Given the description of an element on the screen output the (x, y) to click on. 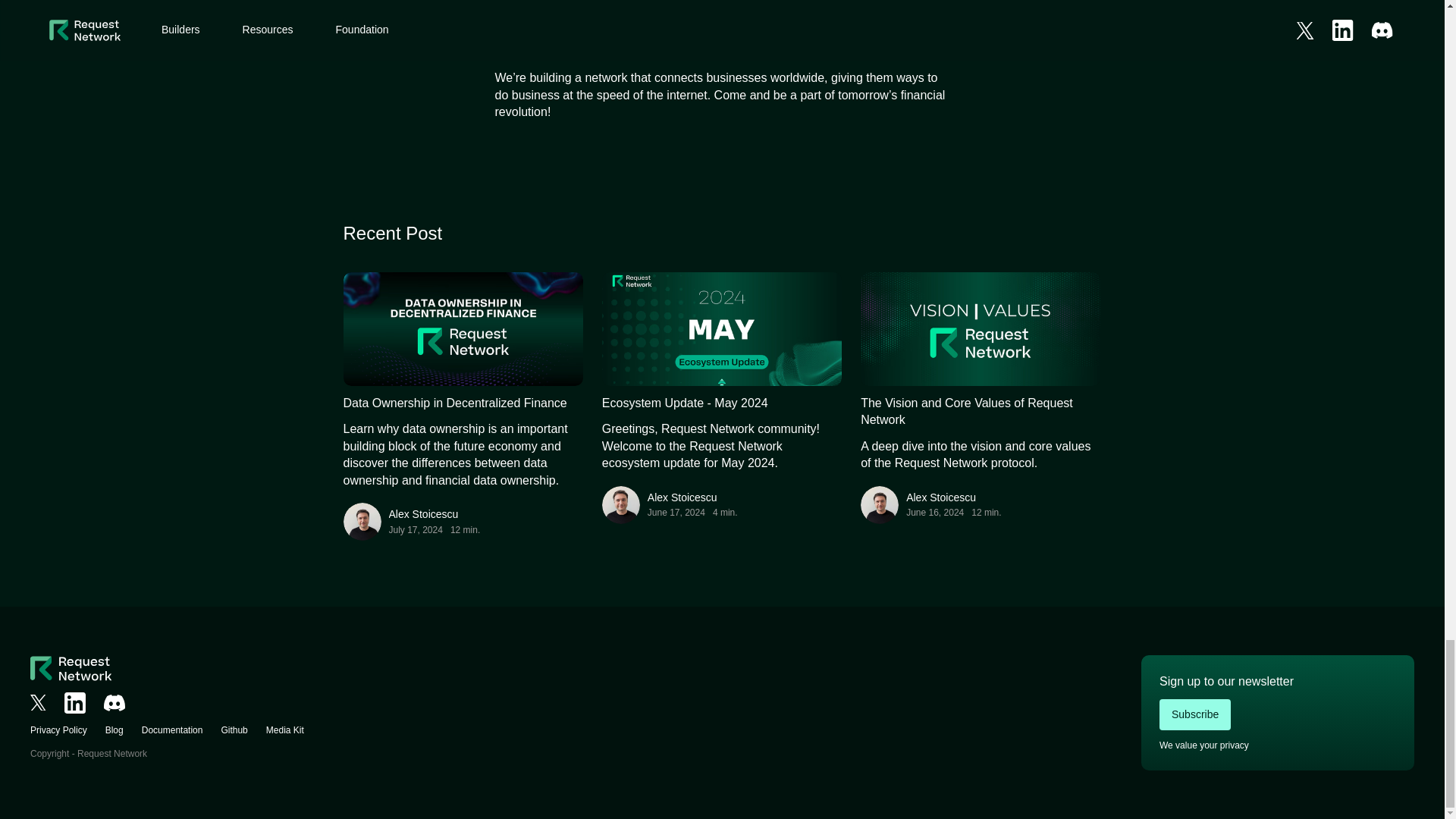
Documentation (172, 730)
Media Kit (285, 730)
Privacy Policy (58, 730)
Github (234, 730)
Subscribe (1194, 714)
Blog (113, 730)
